Given the description of an element on the screen output the (x, y) to click on. 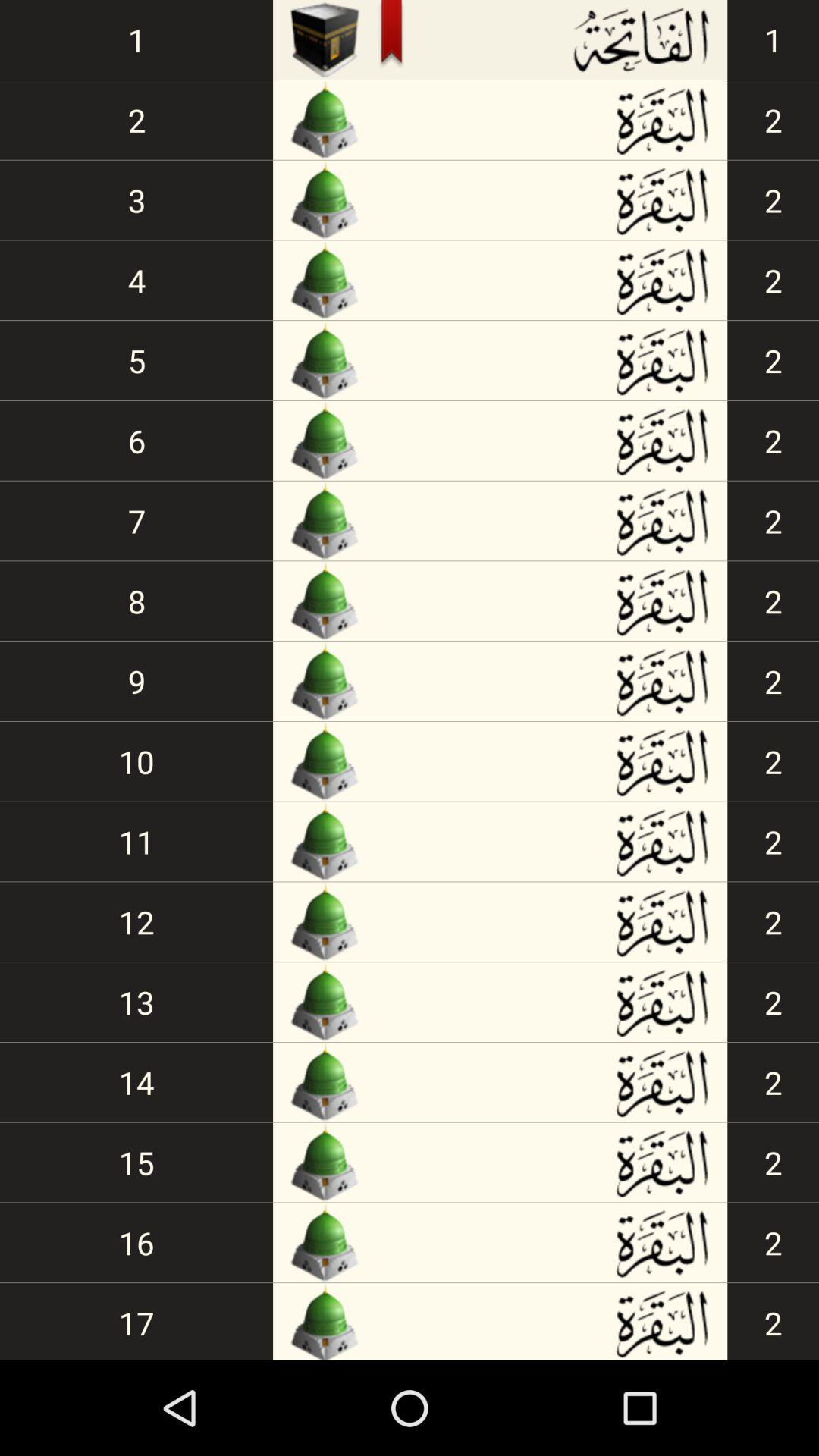
select the 10 app (136, 761)
